Given the description of an element on the screen output the (x, y) to click on. 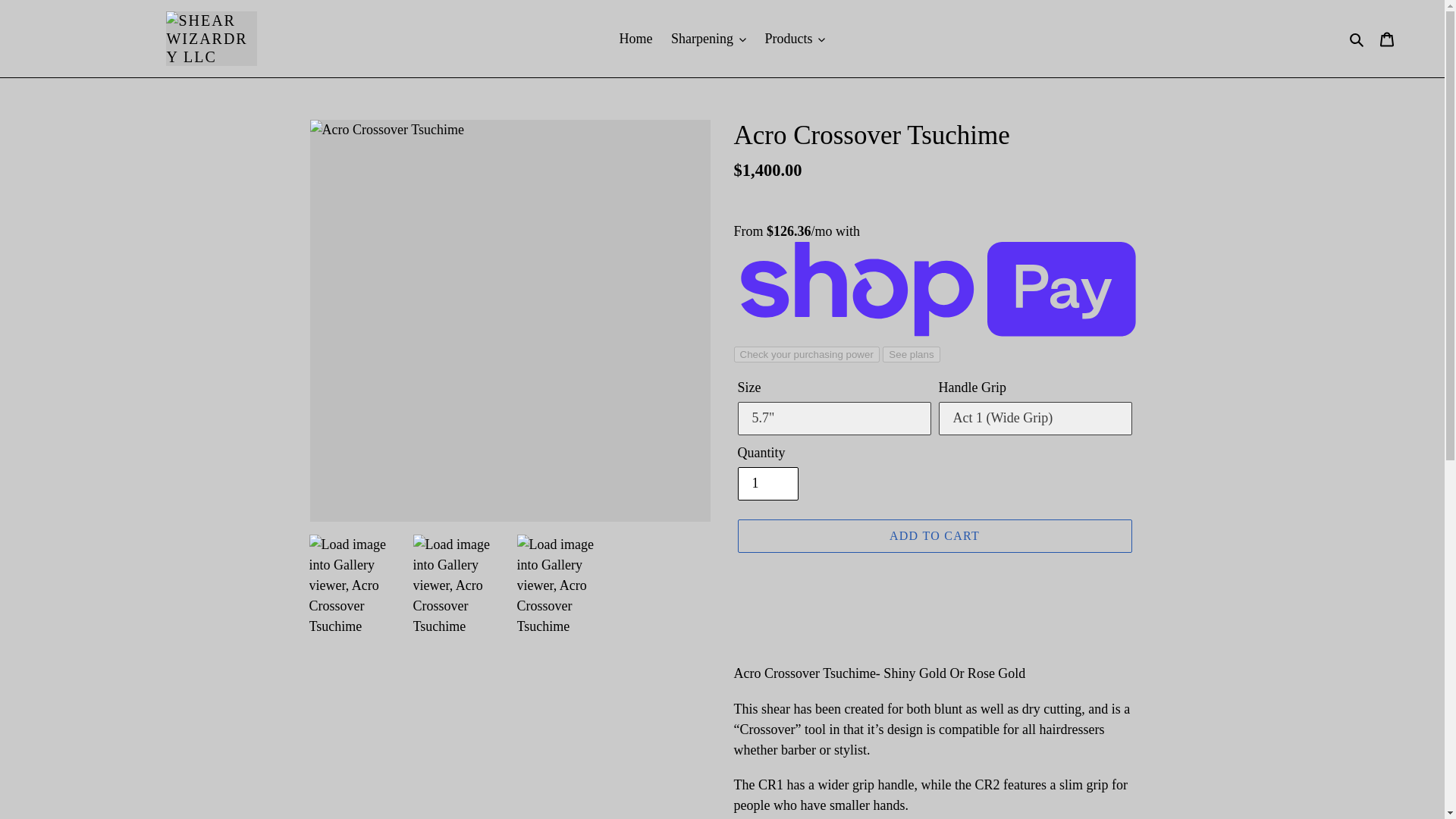
Search (1357, 38)
1 (766, 483)
Sharpening (708, 37)
Products (794, 37)
Cart (1387, 38)
Home (635, 37)
